Given the description of an element on the screen output the (x, y) to click on. 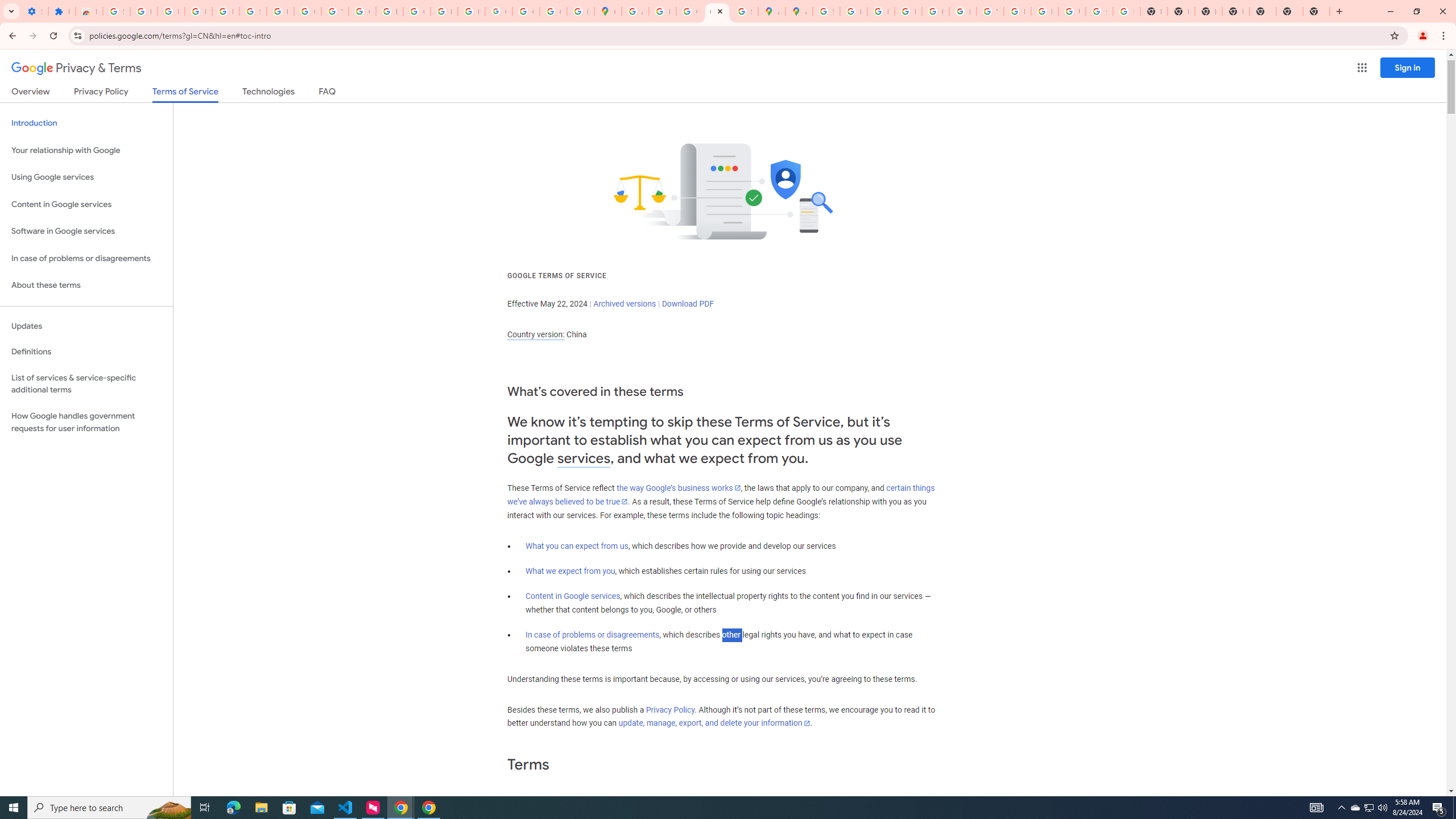
Reviews: Helix Fruit Jump Arcade Game (88, 11)
Privacy Help Center - Policies Help (880, 11)
FAQ (327, 93)
Create your Google Account (690, 11)
What you can expect from us (576, 545)
